Given the description of an element on the screen output the (x, y) to click on. 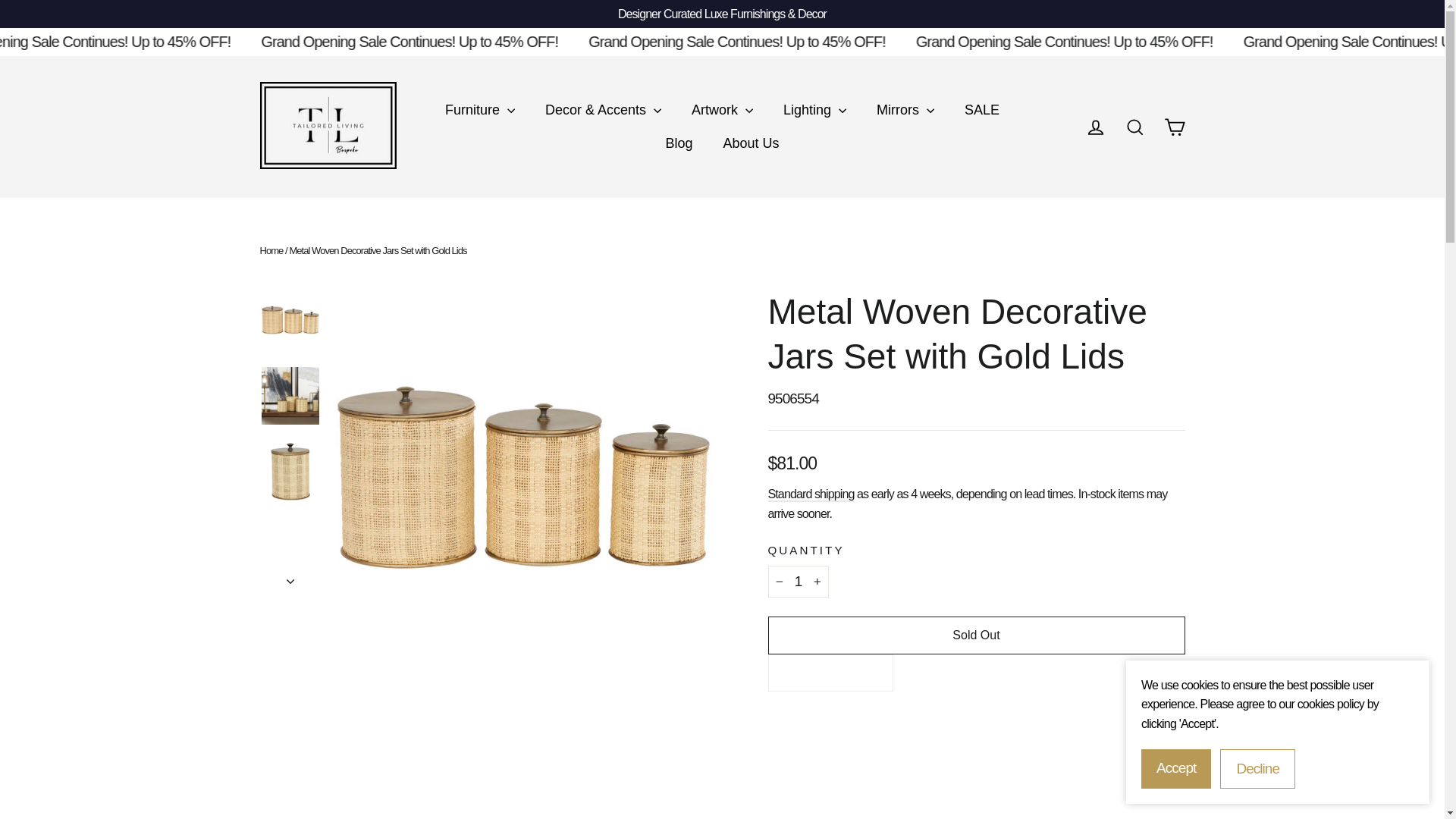
icon-cart (1174, 127)
icon-search (1134, 127)
1 (797, 581)
Back to the frontpage (270, 250)
account (1094, 127)
